Given the description of an element on the screen output the (x, y) to click on. 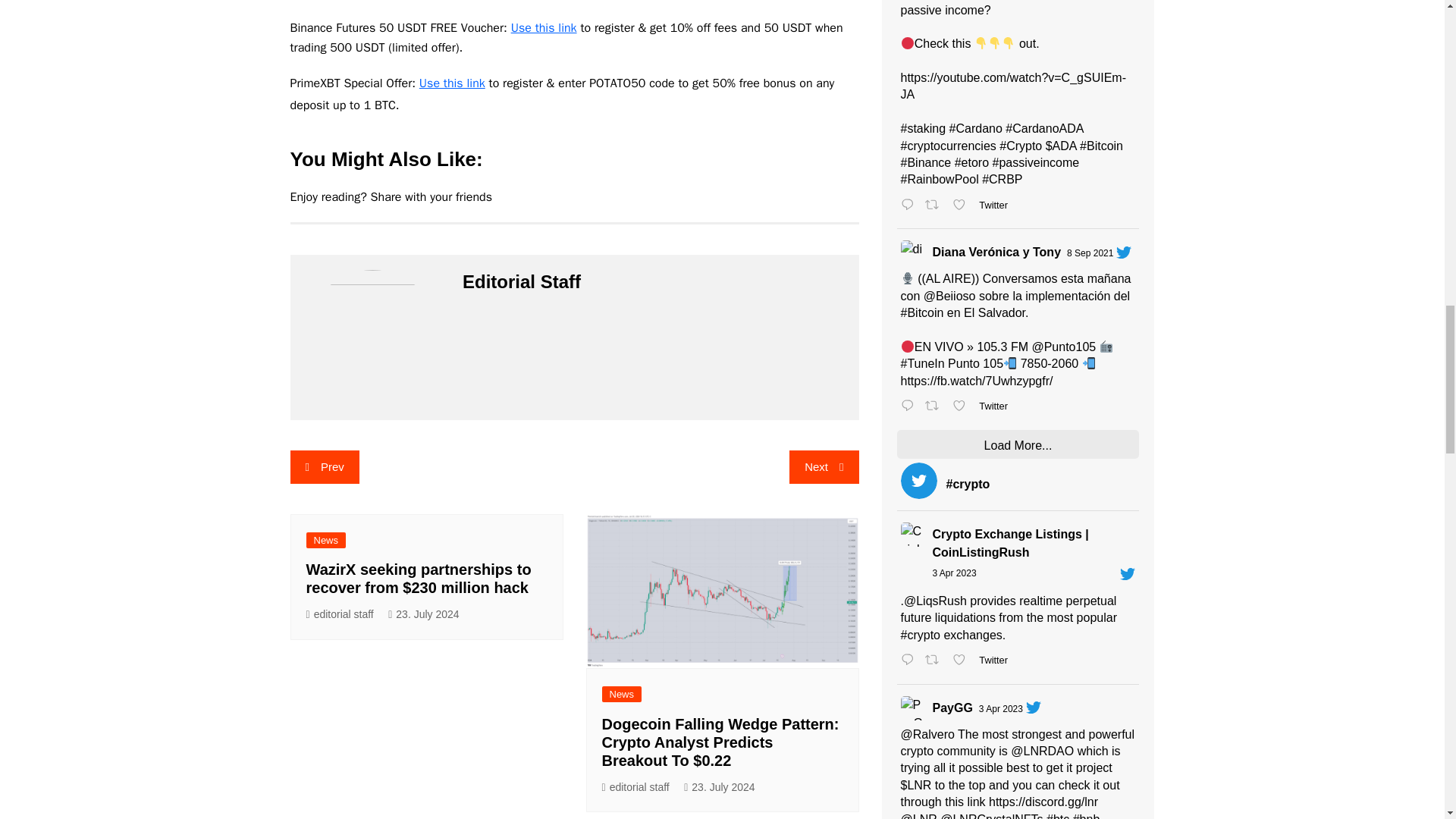
News (622, 693)
editorial staff (339, 614)
23. July 2024 (719, 787)
News (325, 539)
Use this link (543, 28)
23. July 2024 (423, 614)
Next (824, 467)
Use this link (451, 83)
Prev (323, 467)
editorial staff (635, 787)
